Given the description of an element on the screen output the (x, y) to click on. 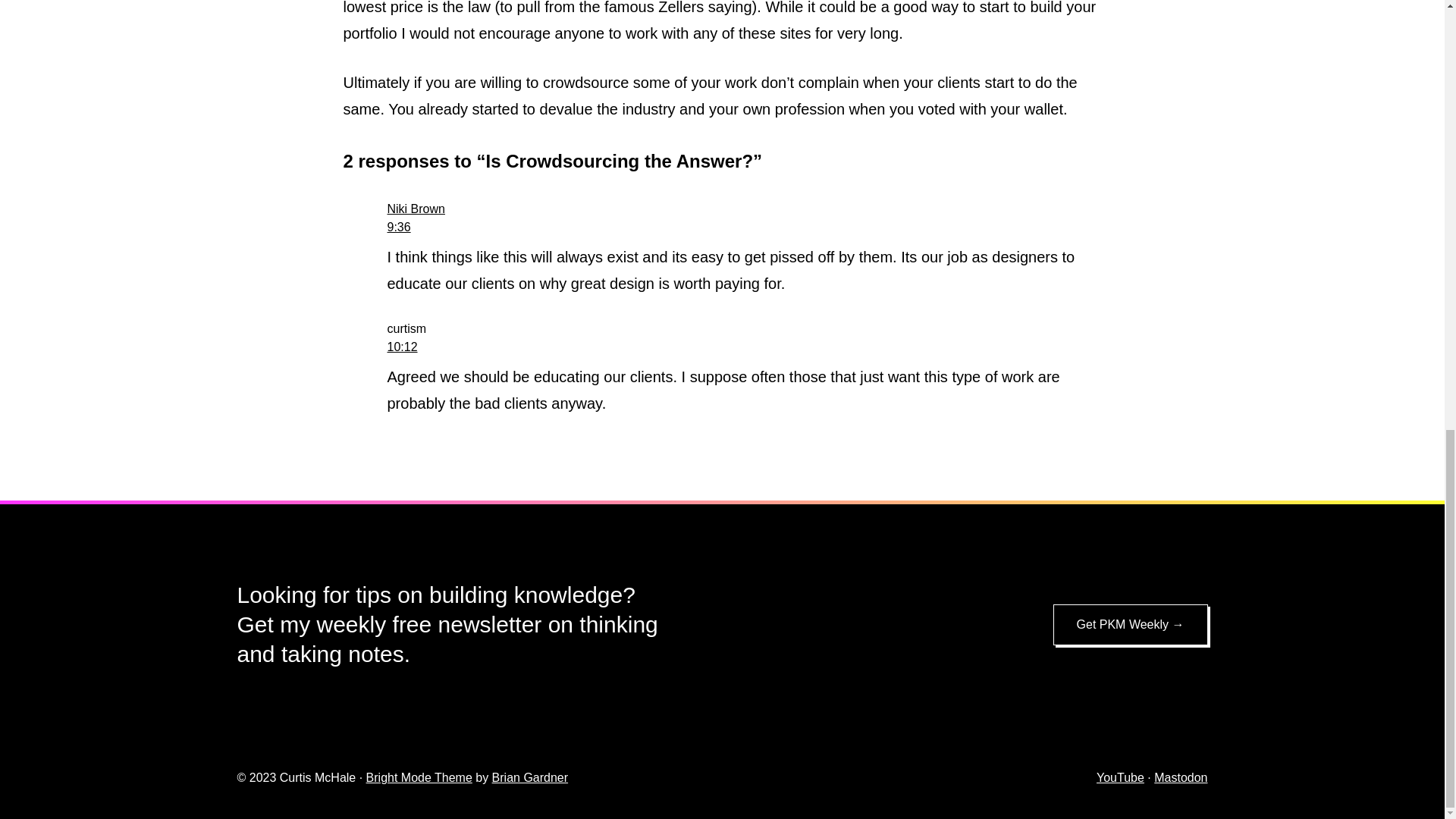
Mastodon (1180, 777)
10:12 (401, 346)
Bright Mode Theme (418, 777)
Brian Gardner (530, 777)
9:36 (398, 226)
YouTube (1120, 777)
Niki Brown (415, 208)
